Given the description of an element on the screen output the (x, y) to click on. 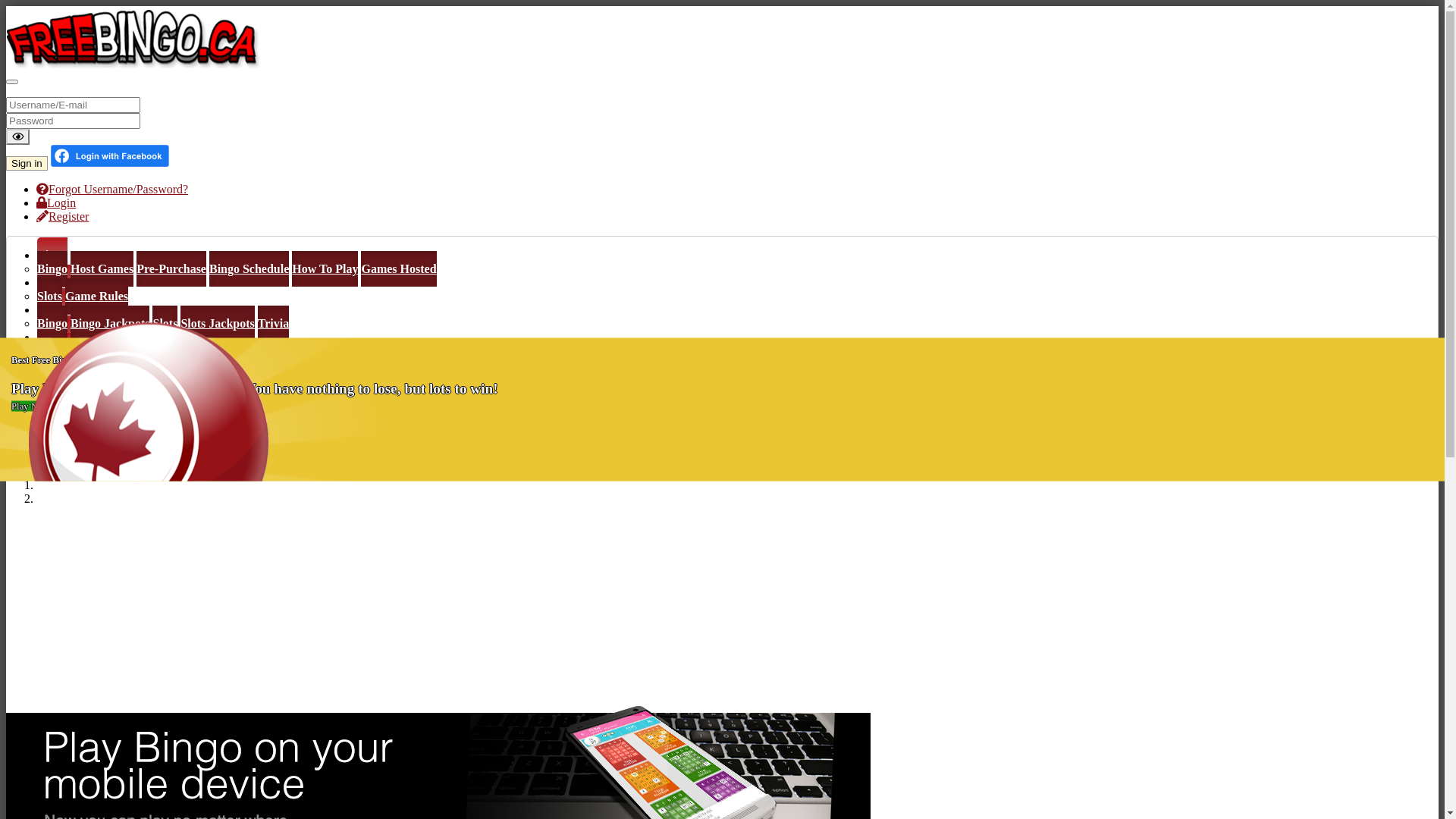
Like Us Element type: text (120, 364)
How To Take A Screenshot Element type: text (380, 391)
Privacy Policy Element type: text (161, 418)
Bingo Element type: text (52, 268)
Help Element type: text (49, 377)
Sign in Element type: text (26, 163)
FAQ Element type: text (94, 391)
Account Element type: text (59, 432)
Promotions Element type: text (67, 350)
Games Element type: text (55, 282)
Bingo Schedule Element type: text (248, 268)
Games Hosted Element type: text (398, 268)
About Us Element type: text (61, 418)
Bingo Element type: text (52, 255)
Login Element type: text (55, 202)
Free Bingo Canada Element type: hover (139, 63)
Promotions Element type: text (67, 364)
Account Element type: text (58, 446)
Host Games Element type: text (101, 268)
Confirm Element type: text (217, 446)
How To Clear Cache Element type: text (254, 391)
Disclaimer Element type: text (230, 418)
Forgot Password Element type: text (154, 391)
Terms Element type: text (104, 418)
About Element type: text (53, 405)
Members Element type: text (62, 336)
Trivia Element type: text (272, 323)
Security Element type: text (104, 446)
Bingo Element type: text (52, 323)
Slots Jackpots Element type: text (217, 323)
Winners Element type: text (59, 309)
Profile Element type: text (146, 446)
How To Play Element type: text (324, 268)
Slots Element type: text (49, 295)
Pre-Purchase Element type: text (171, 268)
Support Element type: text (58, 391)
Game Rules Element type: text (96, 295)
Stats Element type: text (180, 446)
Bingo Jackpots Element type: text (109, 323)
Slots Element type: text (164, 323)
Register Element type: text (62, 216)
Forgot Username/Password? Element type: text (112, 188)
